Given the description of an element on the screen output the (x, y) to click on. 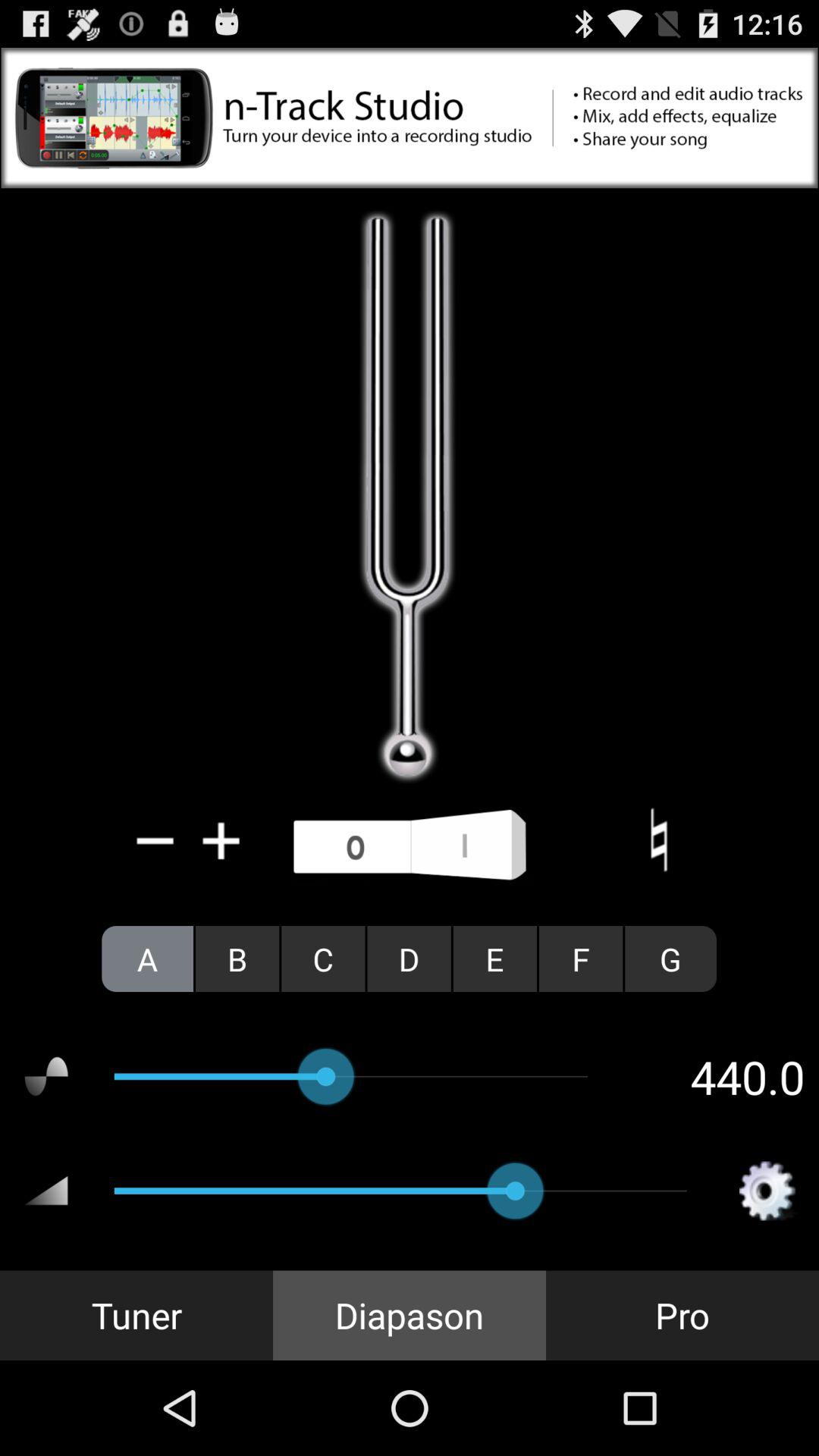
scroll to the d radio button (409, 958)
